Given the description of an element on the screen output the (x, y) to click on. 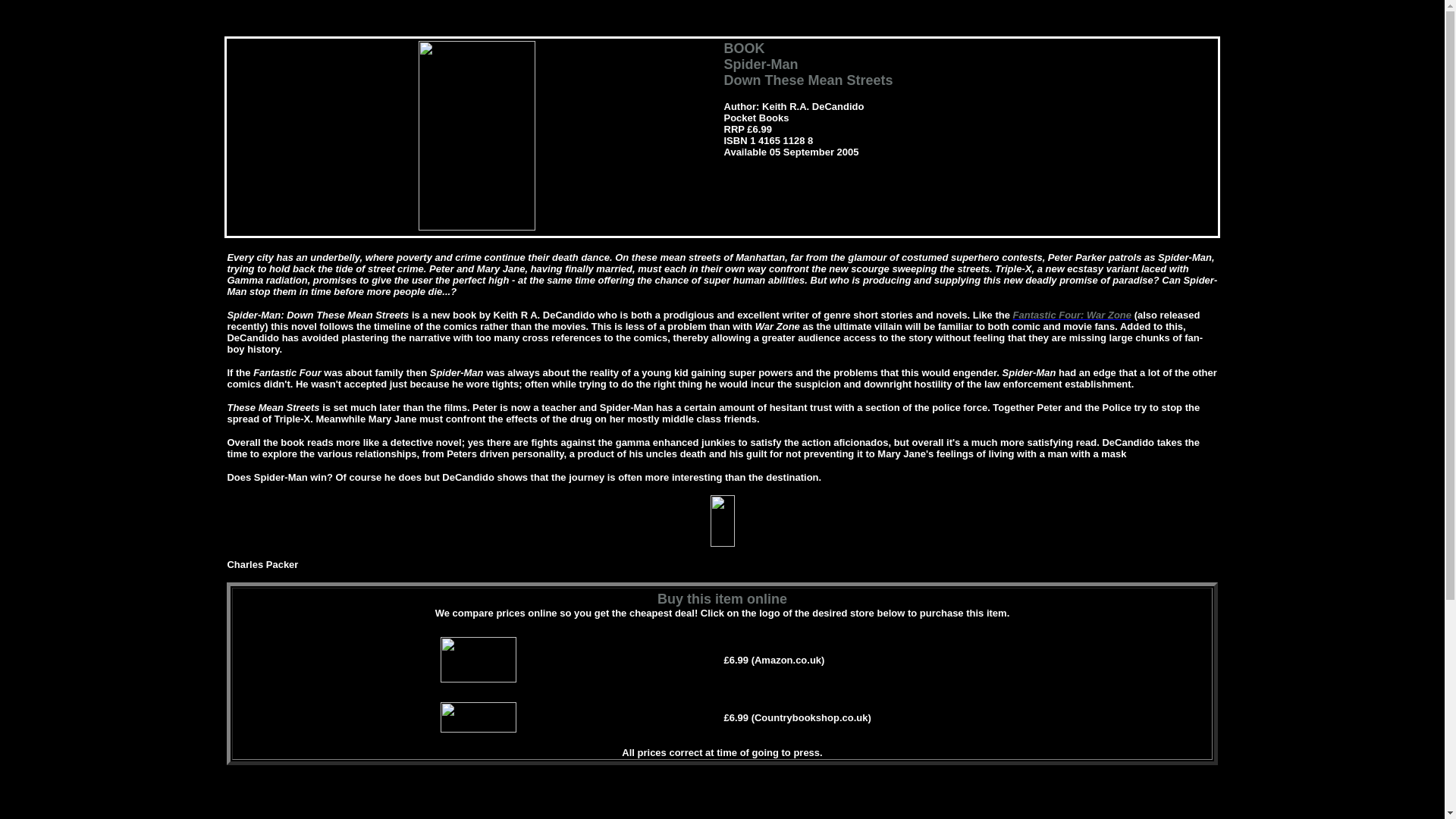
Fantastic Four: War Zone (1072, 315)
